Given the description of an element on the screen output the (x, y) to click on. 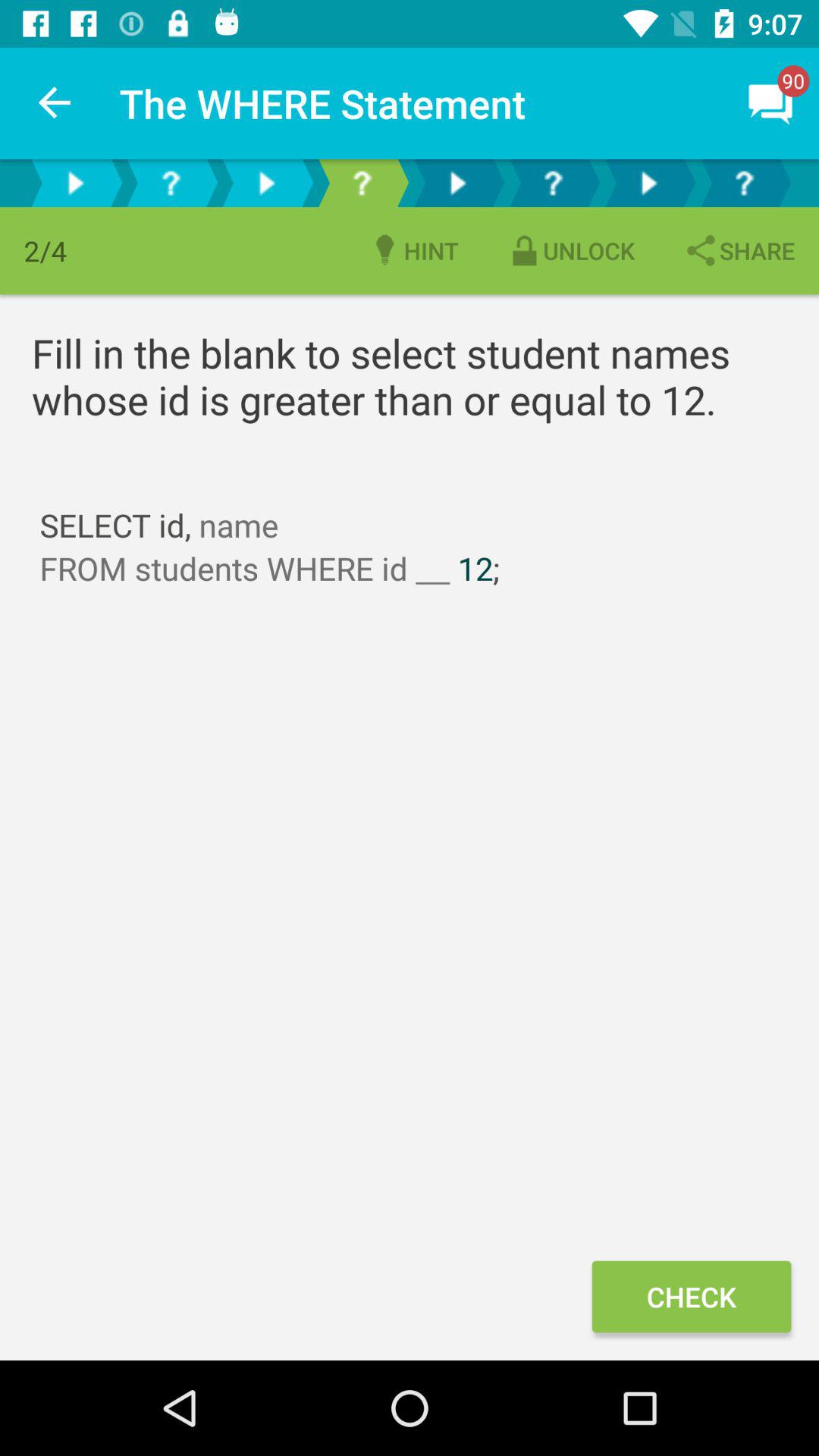
go to previous question (170, 183)
